Given the description of an element on the screen output the (x, y) to click on. 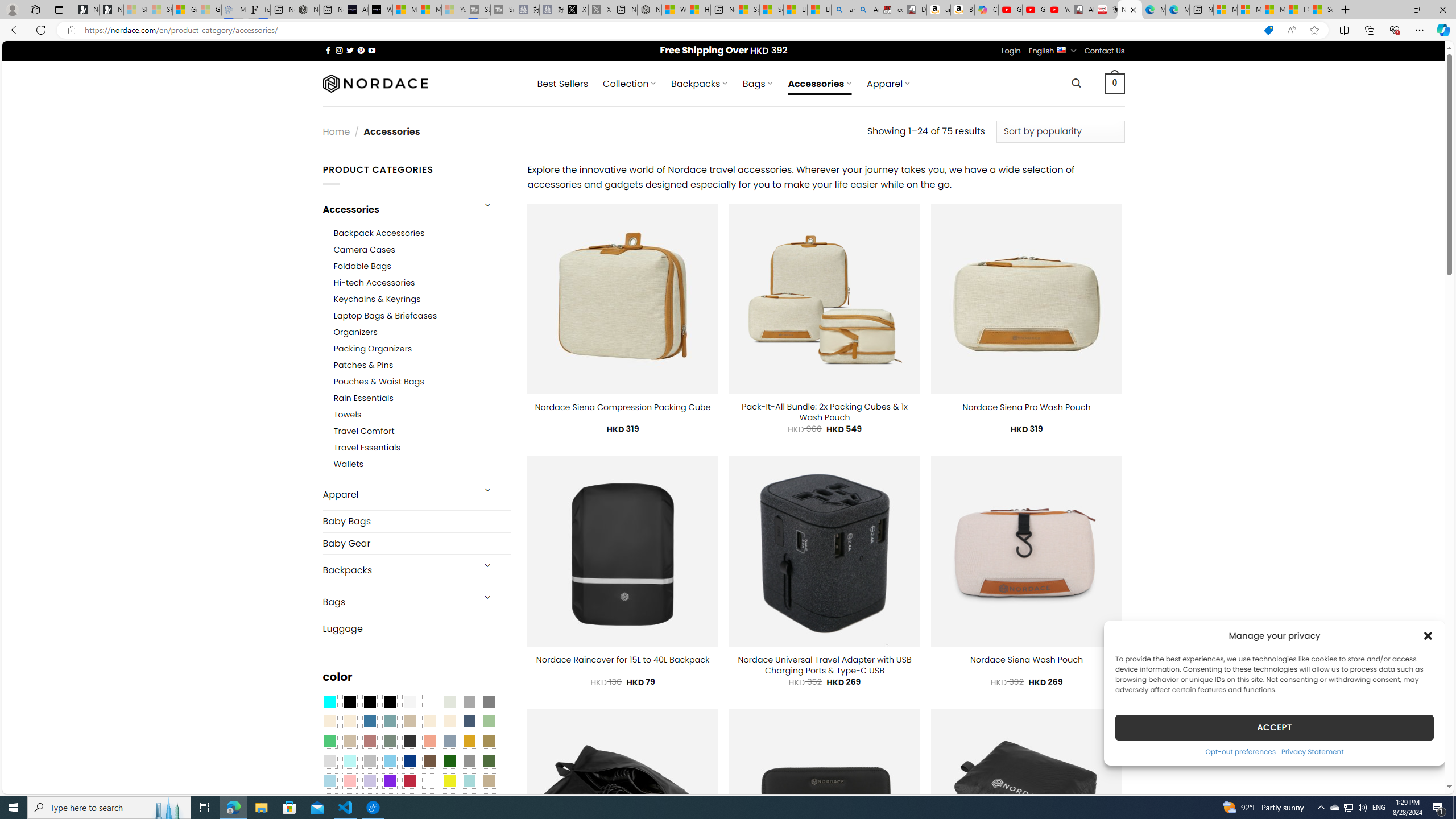
This site has coupons! Shopping in Microsoft Edge (1268, 29)
Organizers (355, 332)
Backpacks (397, 570)
Wallets (348, 464)
Wallets (422, 464)
Kelp (488, 741)
I Gained 20 Pounds of Muscle in 30 Days! | Watch (1296, 9)
Packing Organizers (422, 348)
Blue (369, 721)
Newsletter Sign Up (111, 9)
